Given the description of an element on the screen output the (x, y) to click on. 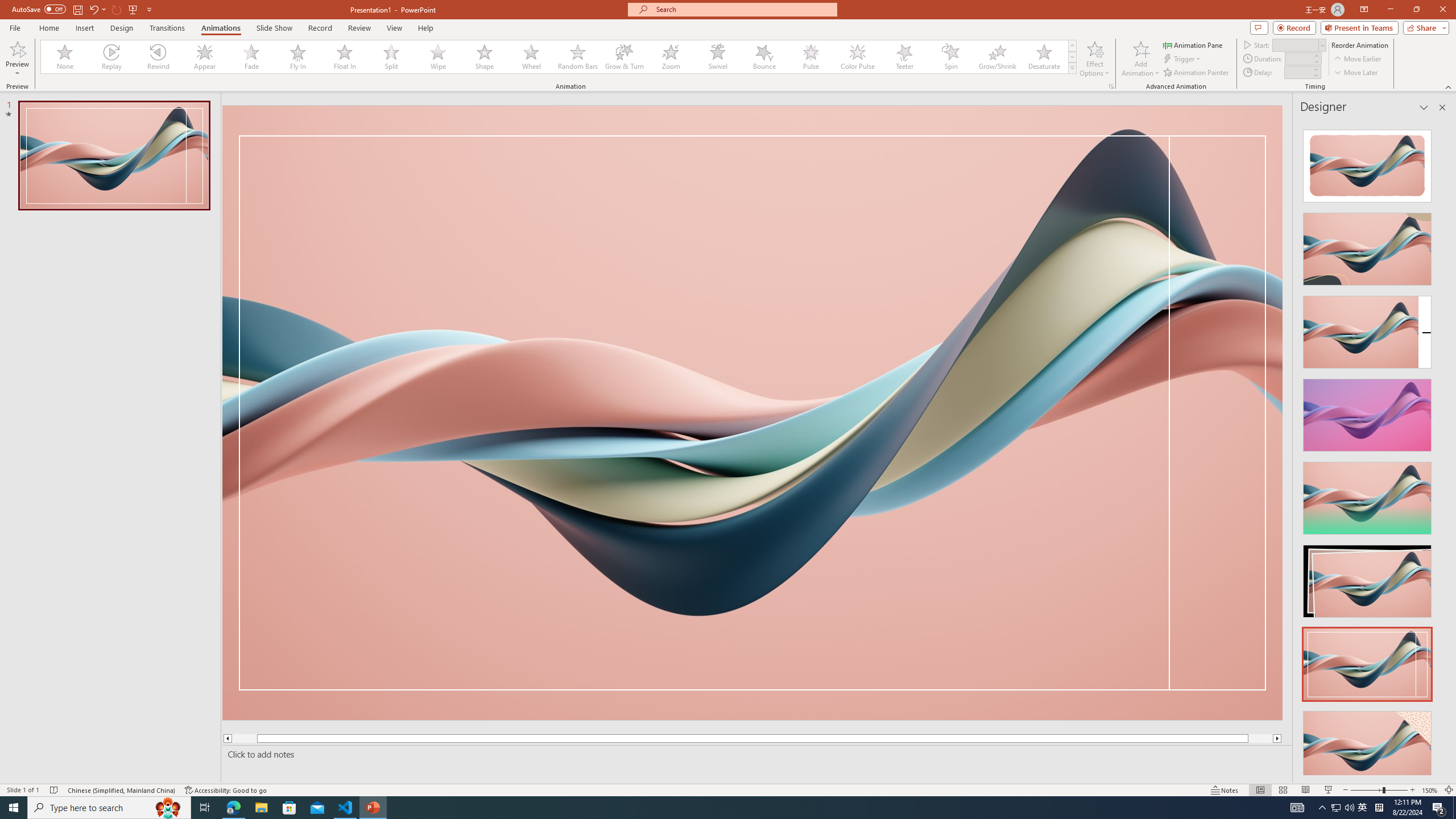
Design Idea (1366, 743)
Appear (205, 56)
Recommended Design: Design Idea (1366, 162)
